Given the description of an element on the screen output the (x, y) to click on. 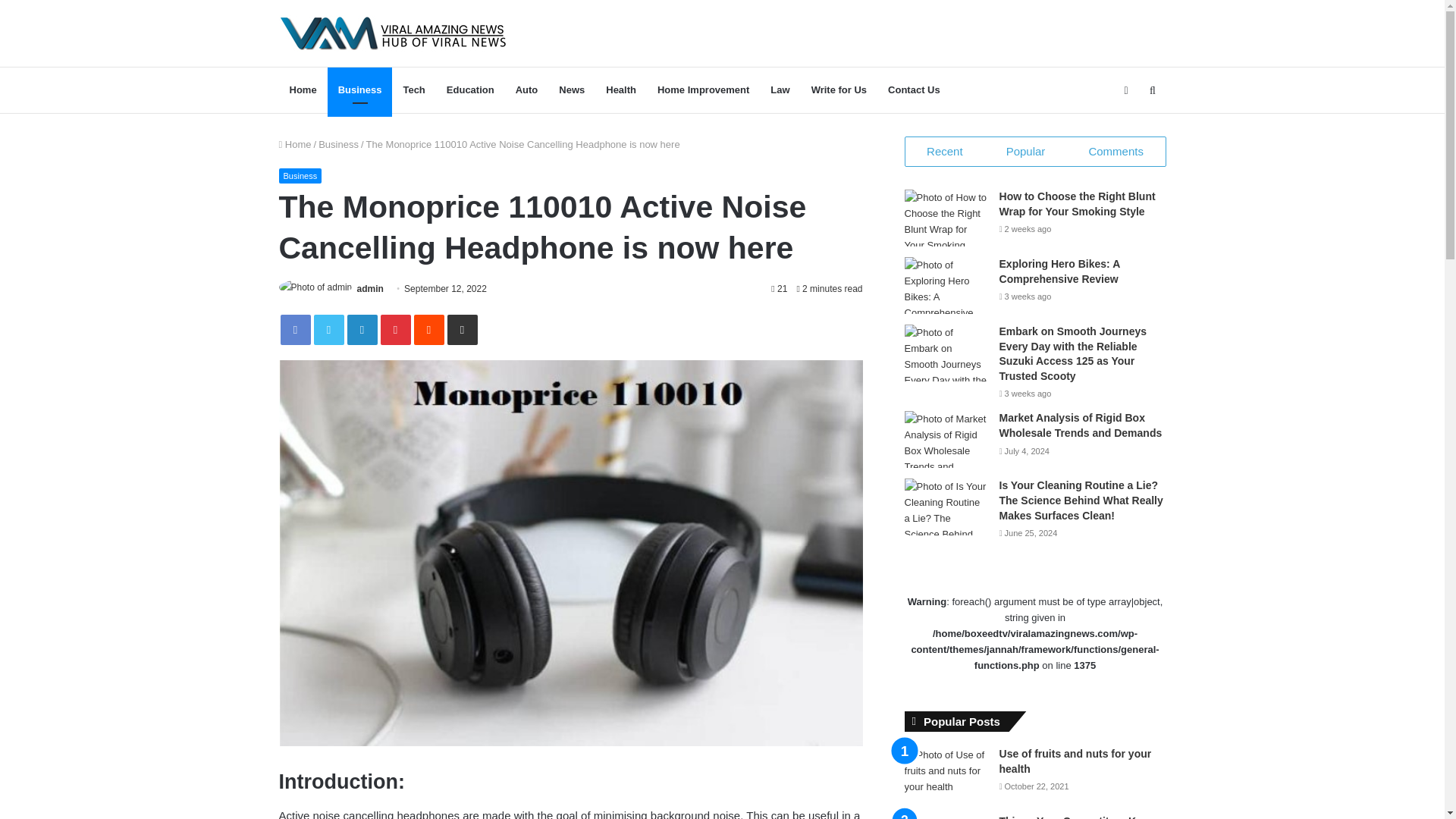
News (571, 90)
viralamazingnews (393, 33)
Twitter (328, 329)
Tech (413, 90)
Education (470, 90)
Home Improvement (703, 90)
Reddit (428, 329)
Contact Us (913, 90)
Home (303, 90)
LinkedIn (362, 329)
